Given the description of an element on the screen output the (x, y) to click on. 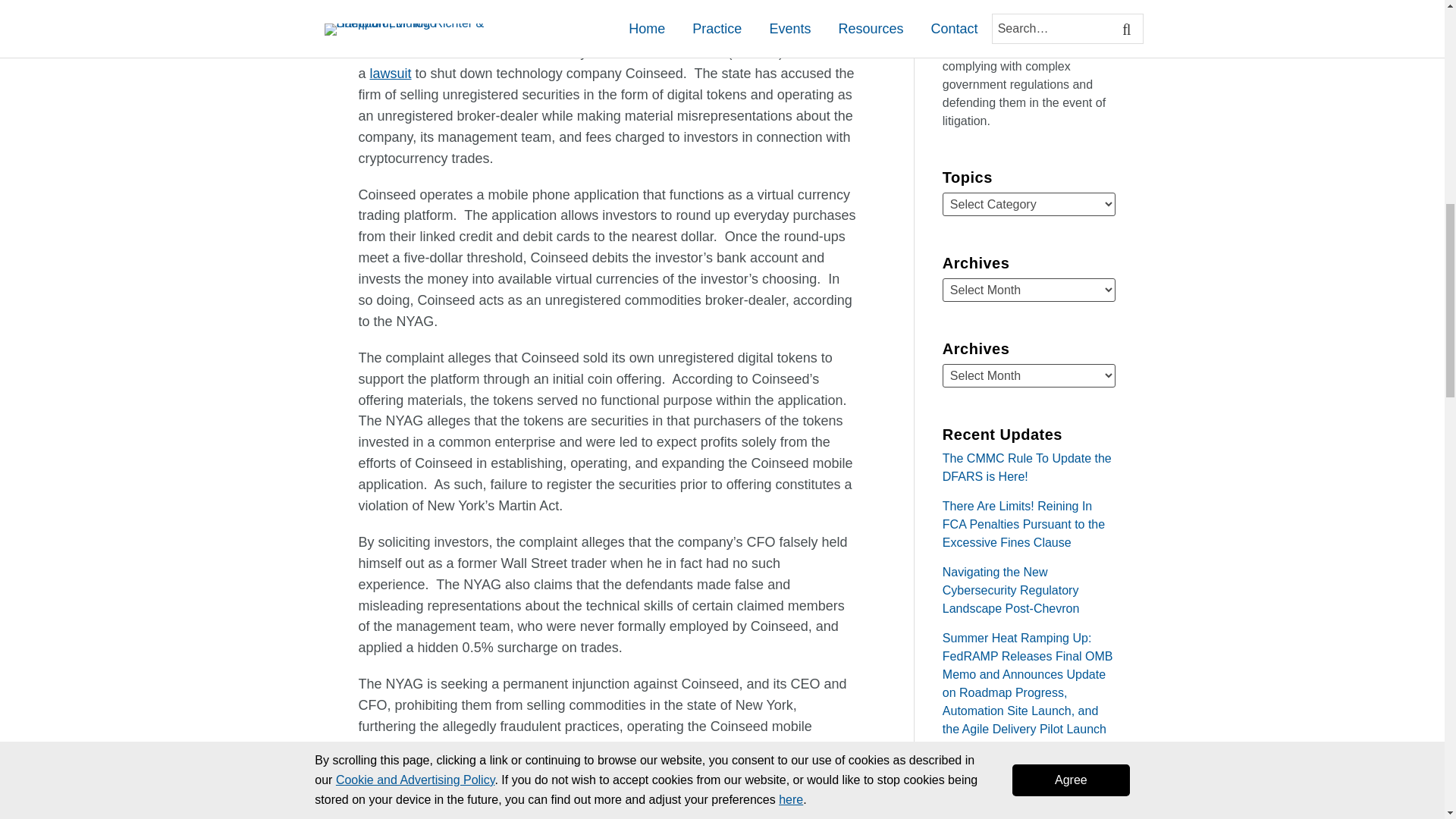
Christopher Bosch (425, 1)
lawsuit (390, 73)
CRYPTOCURRENCY (462, 21)
